Given the description of an element on the screen output the (x, y) to click on. 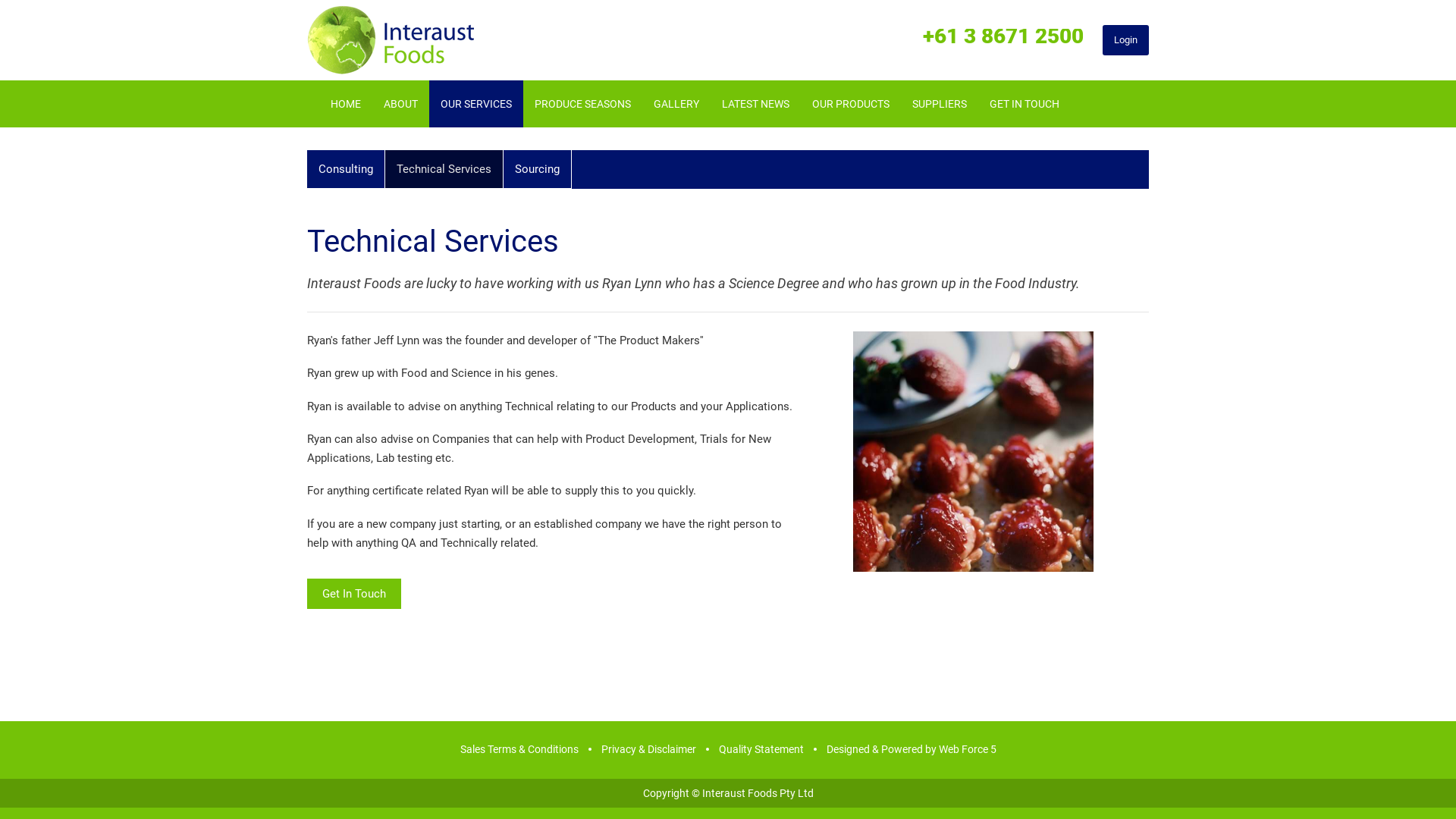
LATEST NEWS Element type: text (755, 103)
GALLERY Element type: text (676, 103)
Sales Terms & Conditions Element type: text (518, 748)
Technical Services Element type: text (444, 169)
PRODUCE SEASONS Element type: text (582, 103)
Get In Touch Element type: text (354, 593)
Consulting Element type: text (346, 169)
Privacy & Disclaimer Element type: text (648, 748)
GET IN TOUCH Element type: text (1024, 103)
OUR PRODUCTS Element type: text (850, 103)
OUR SERVICES Element type: text (476, 103)
Designed & Powered by Web Force 5 Element type: text (910, 748)
HOME Element type: text (345, 103)
SUPPLIERS Element type: text (939, 103)
Sourcing Element type: text (537, 169)
Quality Statement Element type: text (760, 748)
+61 3 8671 2500 Element type: text (1002, 35)
ABOUT Element type: text (400, 103)
Login Element type: text (1125, 40)
